Given the description of an element on the screen output the (x, y) to click on. 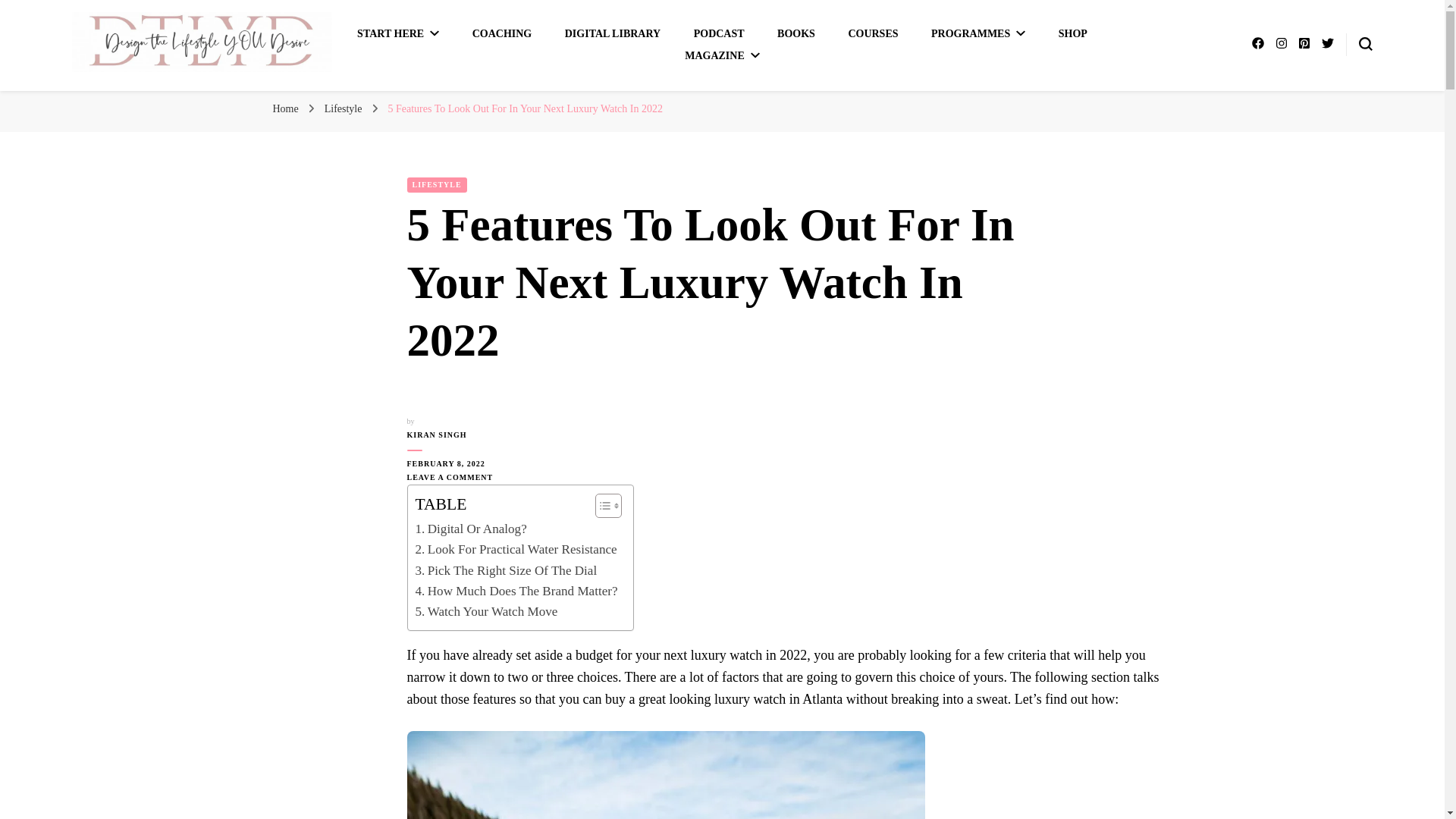
How Much Does The Brand Matter? (515, 590)
Watch Your Watch Move (485, 611)
Look For Practical Water Resistance (515, 548)
Digital Or Analog? (470, 528)
Pick The Right Size Of The Dial (505, 570)
